Given the description of an element on the screen output the (x, y) to click on. 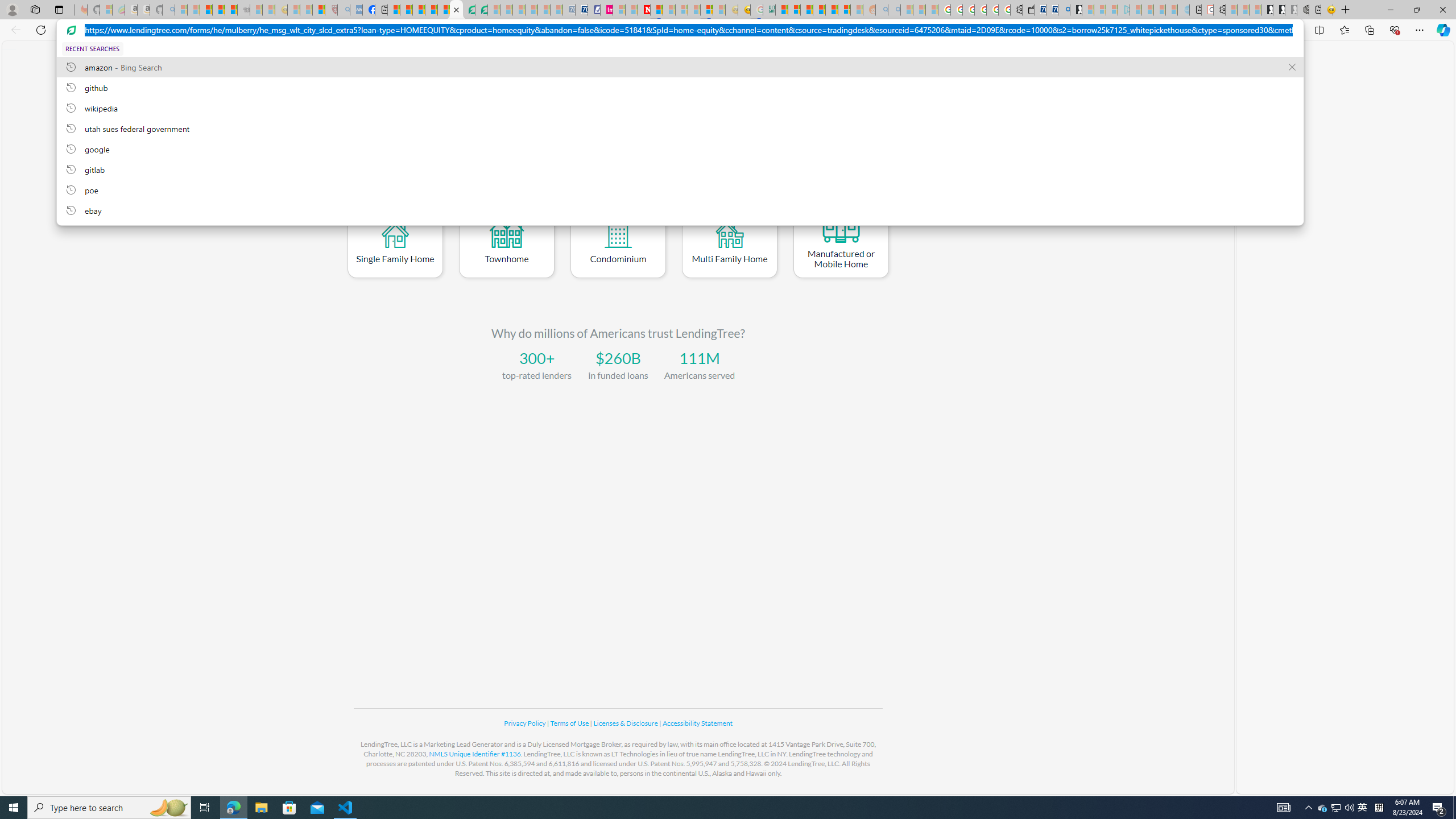
poe, recent searches from history (679, 189)
github, recent searches from history (679, 86)
NMLS Unique Identifier #1136 (475, 753)
Bing Real Estate - Home sales and rental listings (1063, 9)
